Given the description of an element on the screen output the (x, y) to click on. 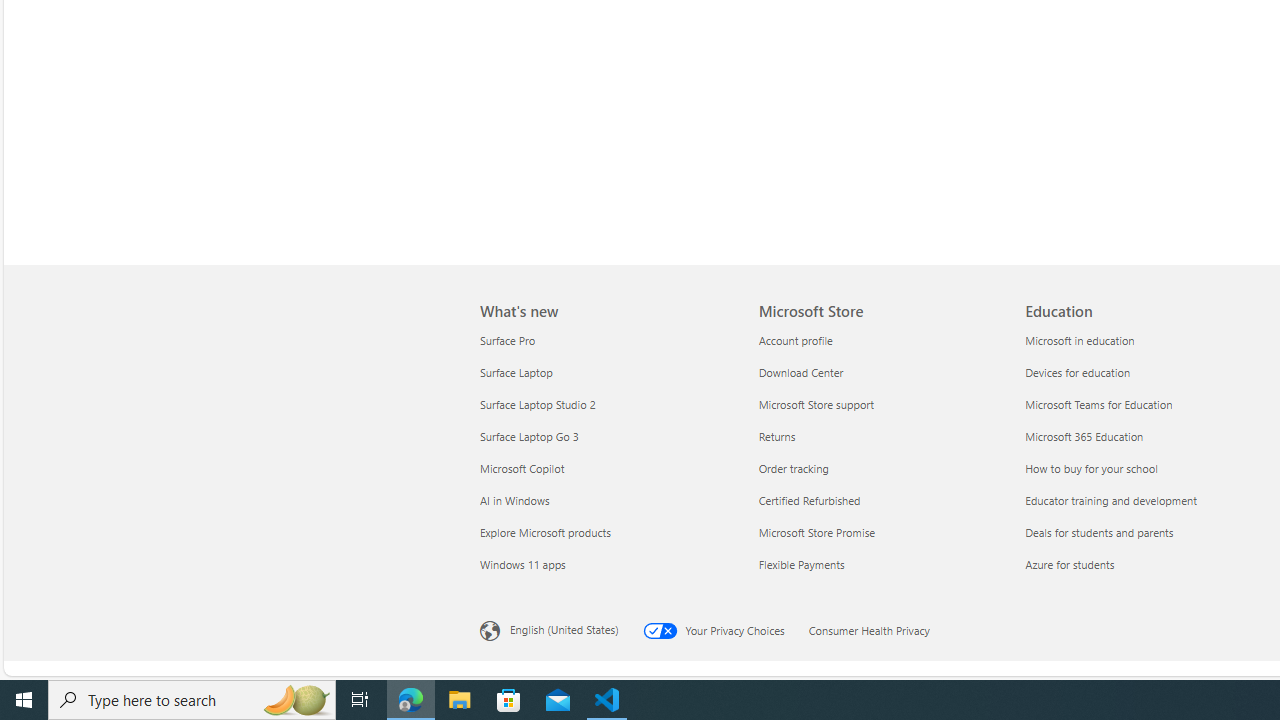
Your Privacy Choices Opt-Out Icon Your Privacy Choices (725, 628)
Surface Laptop Go 3 (607, 435)
Microsoft in education (1146, 340)
Educator training and development (1146, 499)
Account profile (879, 340)
How to buy for your school (1146, 468)
Microsoft Copilot (607, 468)
